Given the description of an element on the screen output the (x, y) to click on. 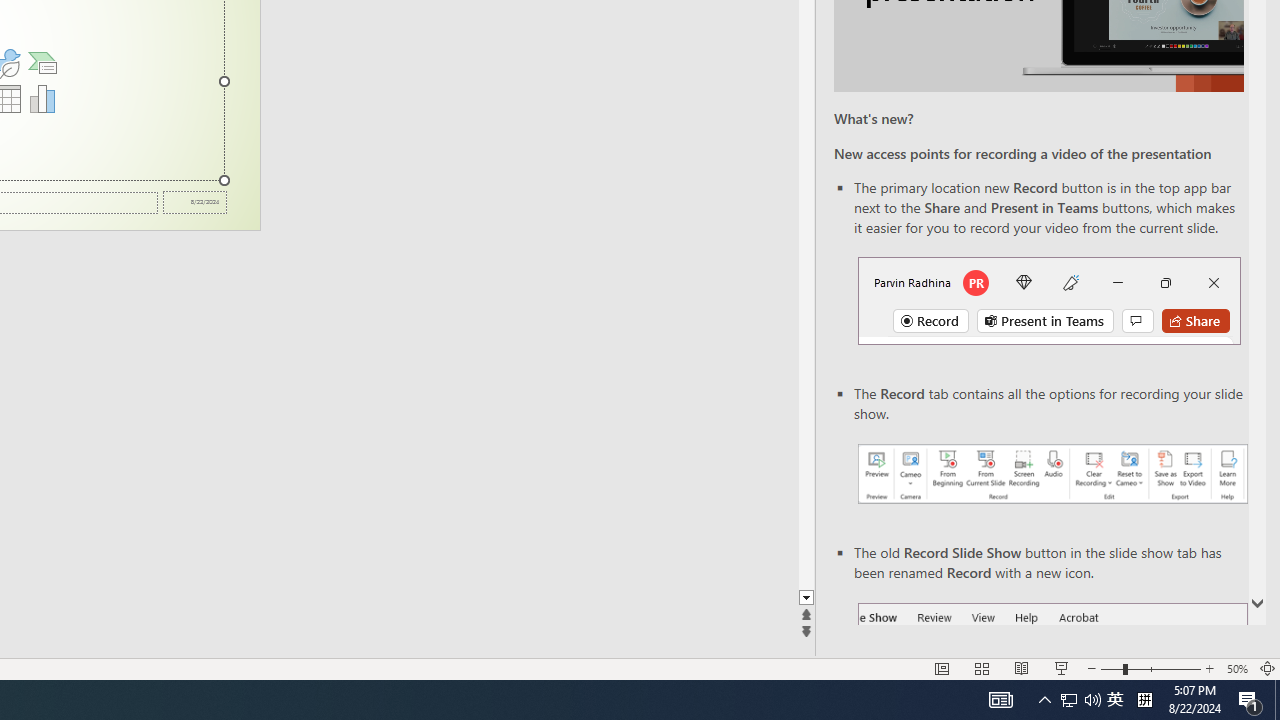
Insert a SmartArt Graphic (42, 62)
Insert Chart (42, 98)
Date (194, 201)
Line down (806, 597)
Record your presentations screenshot one (1052, 473)
Zoom 50% (1236, 668)
